Given the description of an element on the screen output the (x, y) to click on. 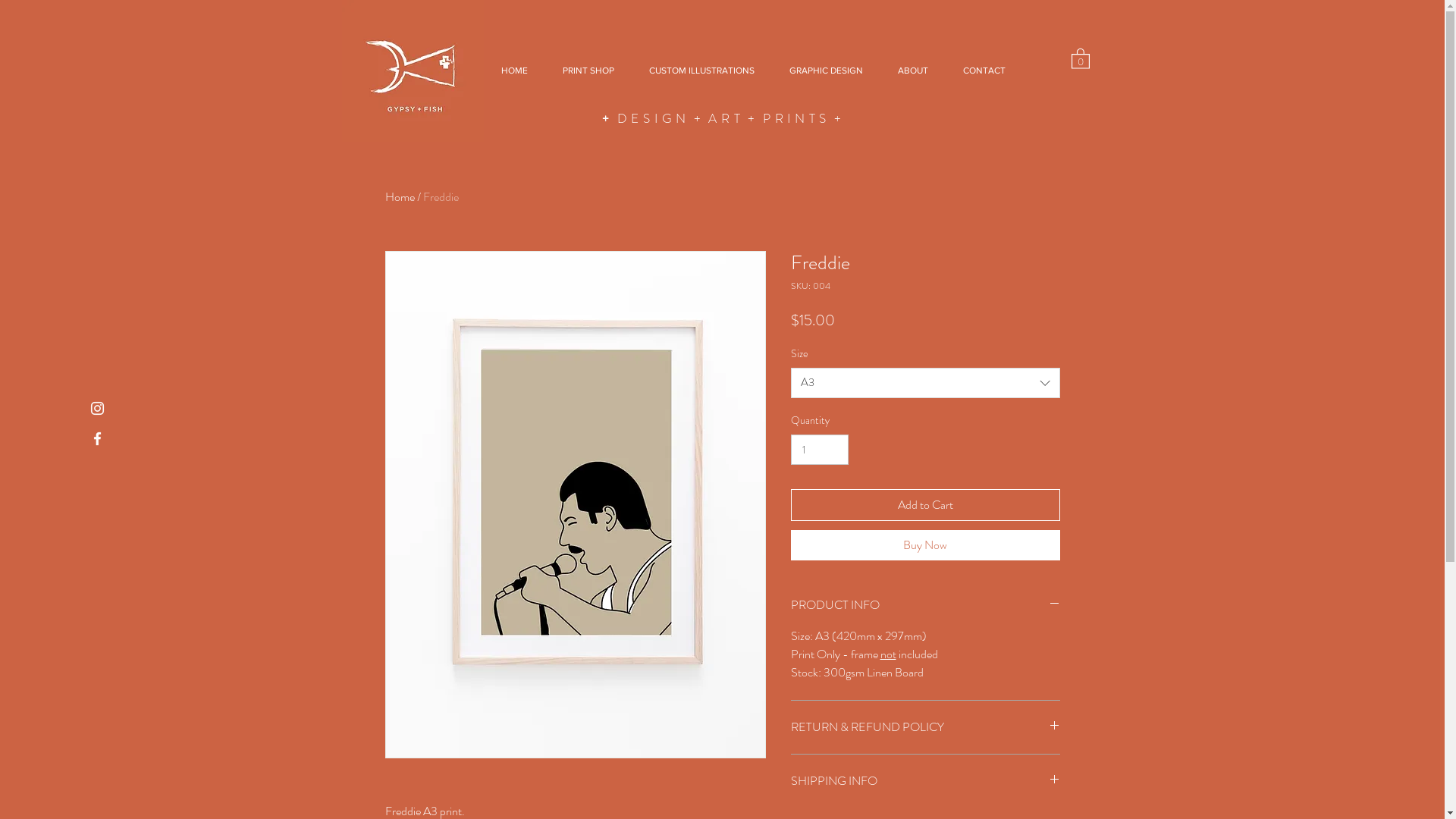
Buy Now Element type: text (924, 545)
RETURN & REFUND POLICY Element type: text (924, 726)
SHIPPING INFO Element type: text (924, 780)
0 Element type: text (1079, 58)
ABOUT Element type: text (911, 70)
PRINT SHOP Element type: text (587, 70)
CUSTOM ILLUSTRATIONS Element type: text (700, 70)
GRAPHIC DESIGN Element type: text (825, 70)
A3 Element type: text (924, 382)
Home Element type: text (399, 196)
PRODUCT INFO Element type: text (924, 604)
Add to Cart Element type: text (924, 504)
HOME Element type: text (514, 70)
CONTACT Element type: text (983, 70)
